Given the description of an element on the screen output the (x, y) to click on. 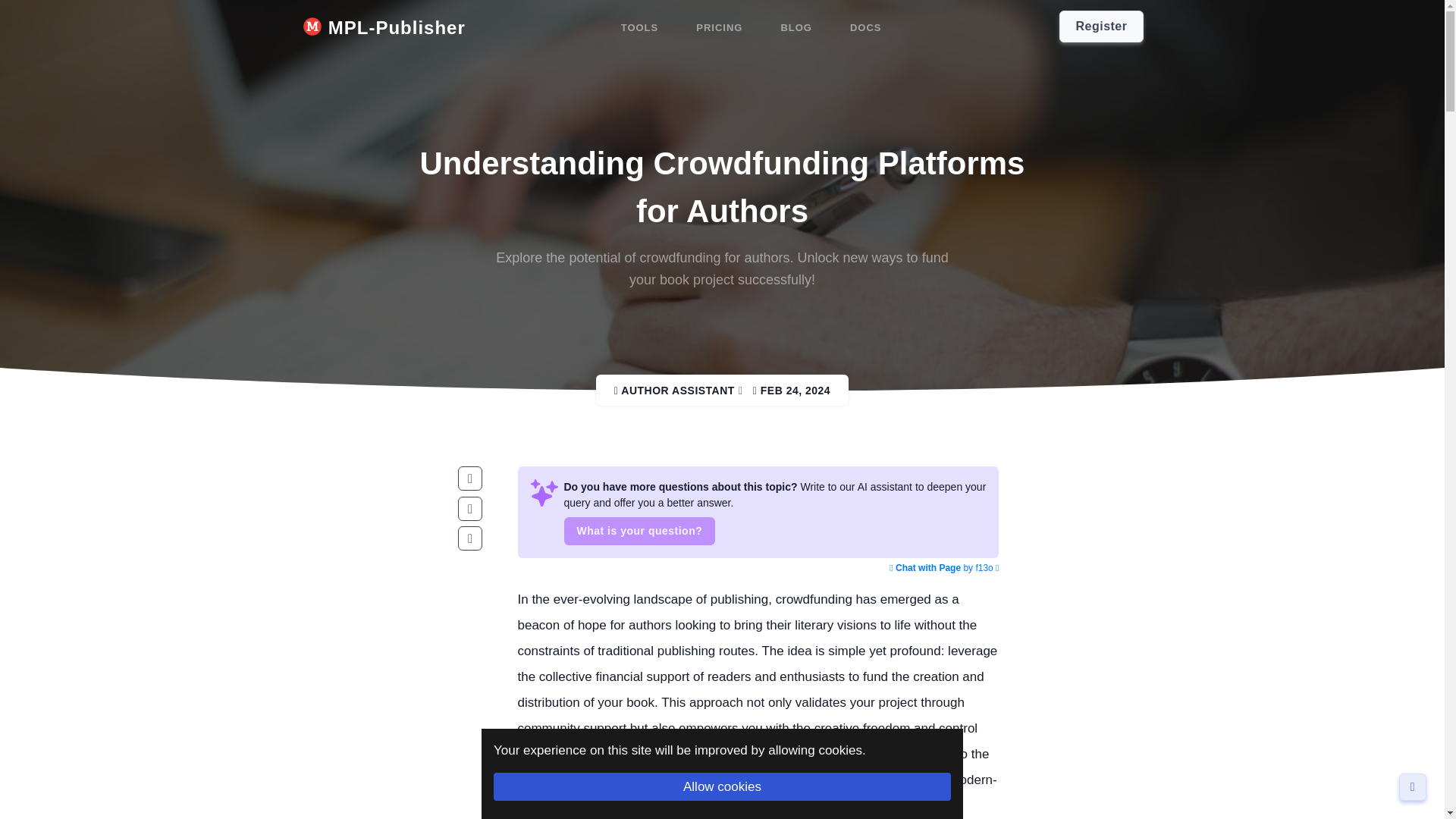
DOCS (865, 28)
BLOG (796, 28)
What is your question? (640, 530)
PRICING (719, 28)
TOOLS (639, 28)
Register (1100, 26)
MPL-Publisher (383, 28)
MPL-Publisher (383, 28)
